Given the description of an element on the screen output the (x, y) to click on. 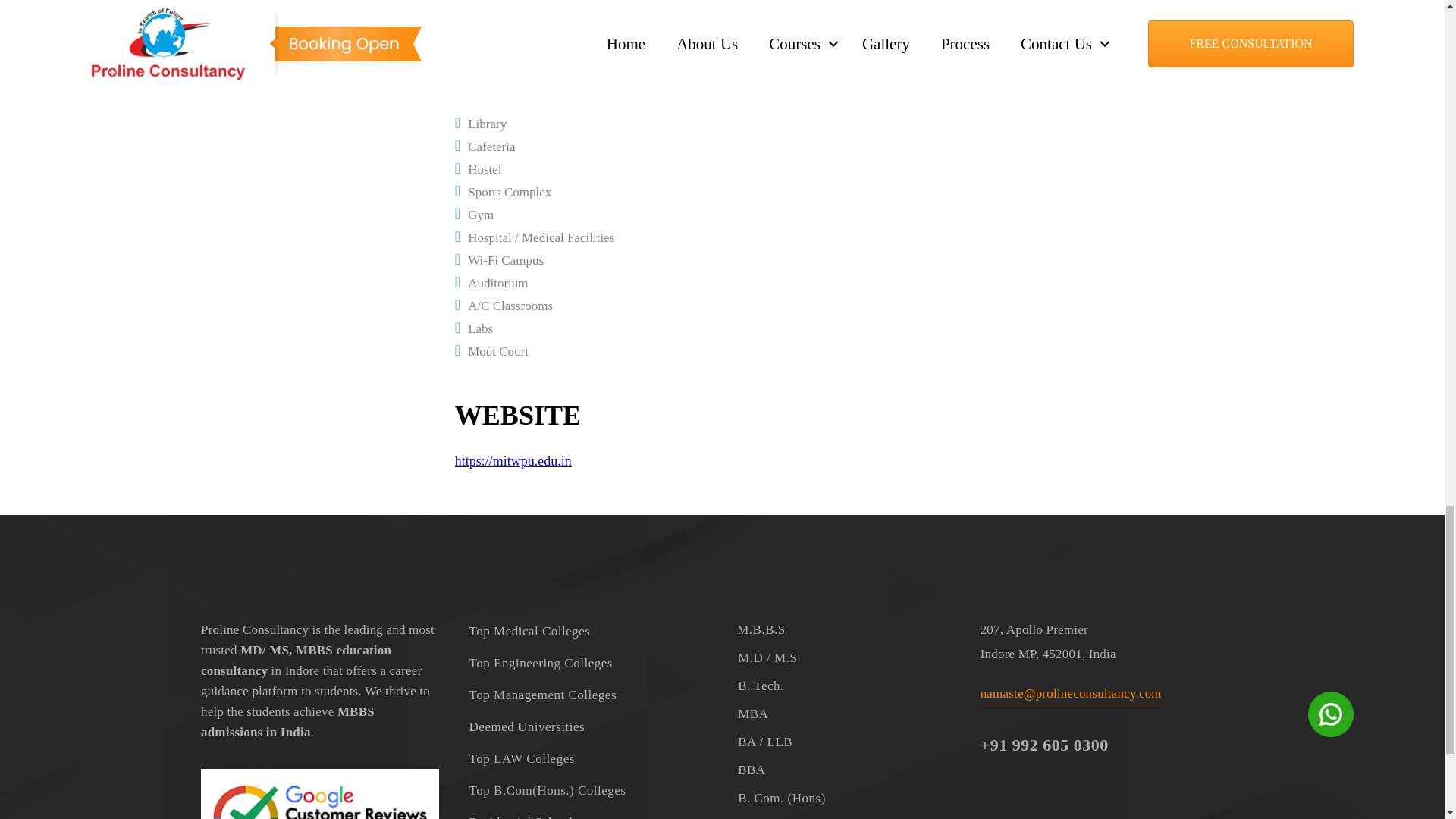
MBA (843, 713)
M.B.B.S (842, 629)
B. Tech. (843, 685)
BBA (843, 769)
